Given the description of an element on the screen output the (x, y) to click on. 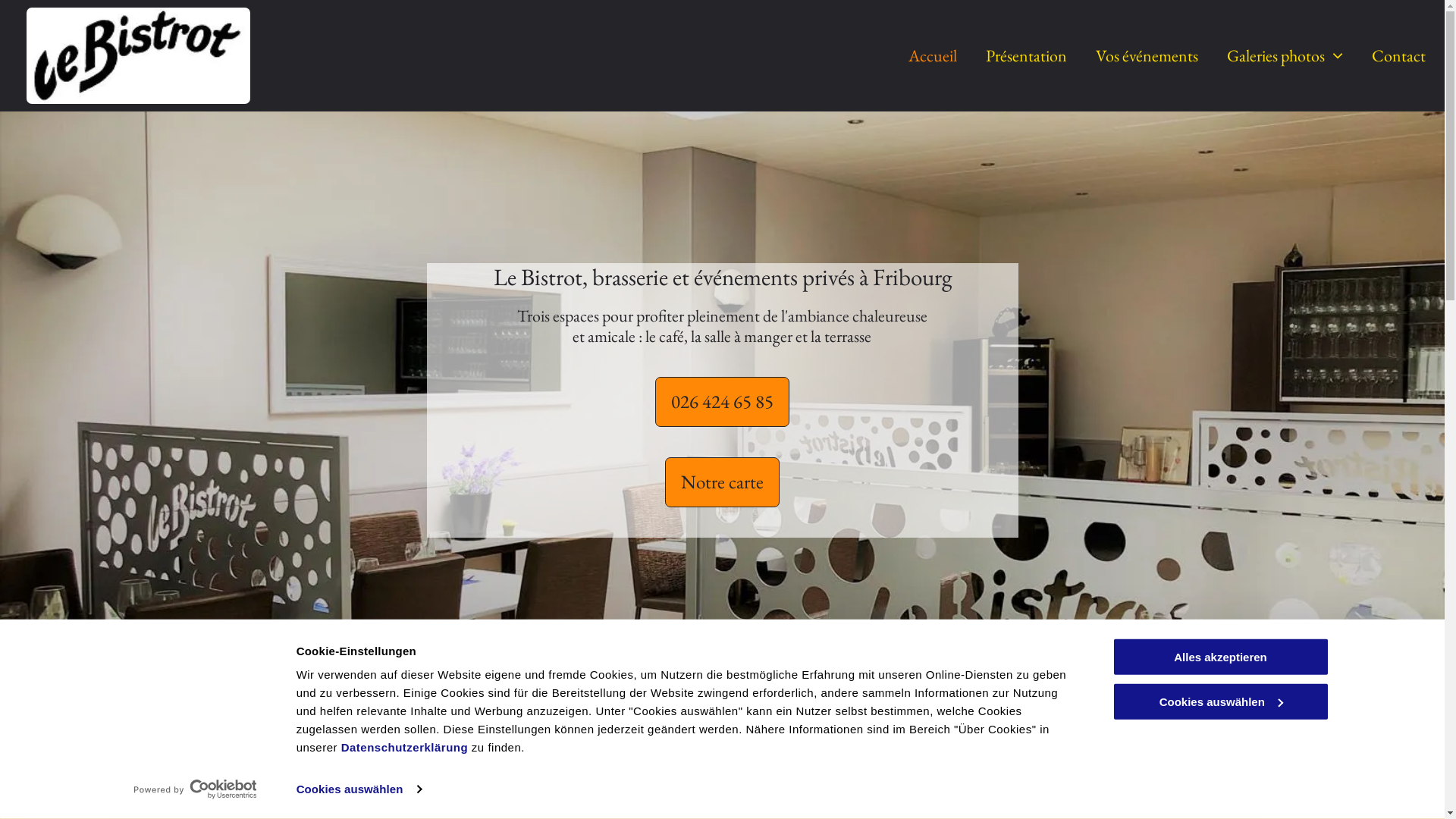
Notre carte Element type: text (722, 482)
Accueil Element type: text (932, 55)
026 424 65 85 Element type: text (722, 401)
Contact Element type: text (1398, 55)
Alles akzeptieren Element type: text (1219, 656)
Galeries photos Element type: text (1284, 55)
